Given the description of an element on the screen output the (x, y) to click on. 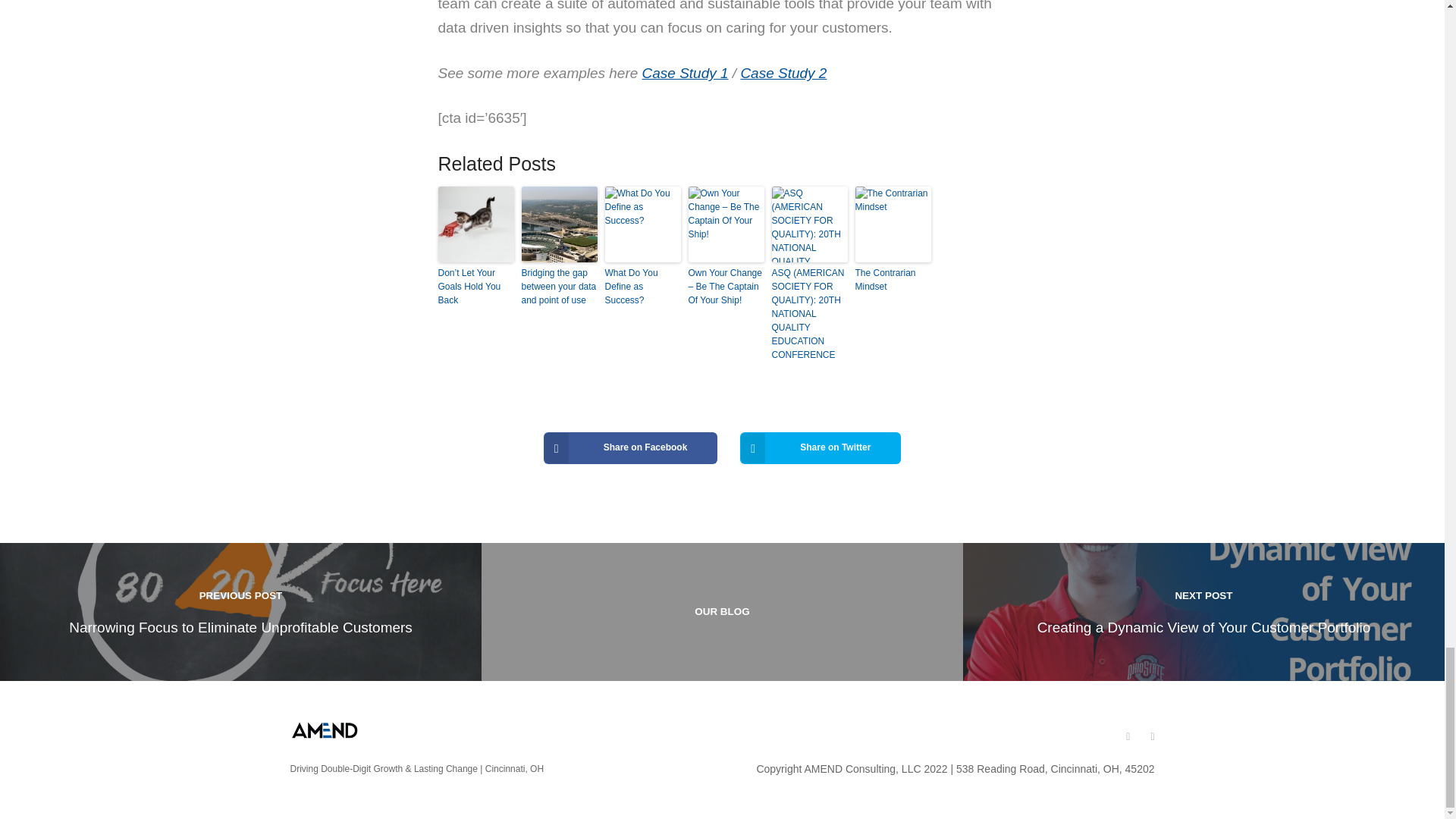
The Contrarian Mindset (893, 279)
What Do You Define as Success? (643, 286)
Bridging the gap between your data and point of use (558, 286)
Case Study 1 (685, 73)
Case Study 2 (783, 73)
OUR BLOG (721, 611)
Share on Facebook (630, 448)
Share on Twitter (820, 448)
